Given the description of an element on the screen output the (x, y) to click on. 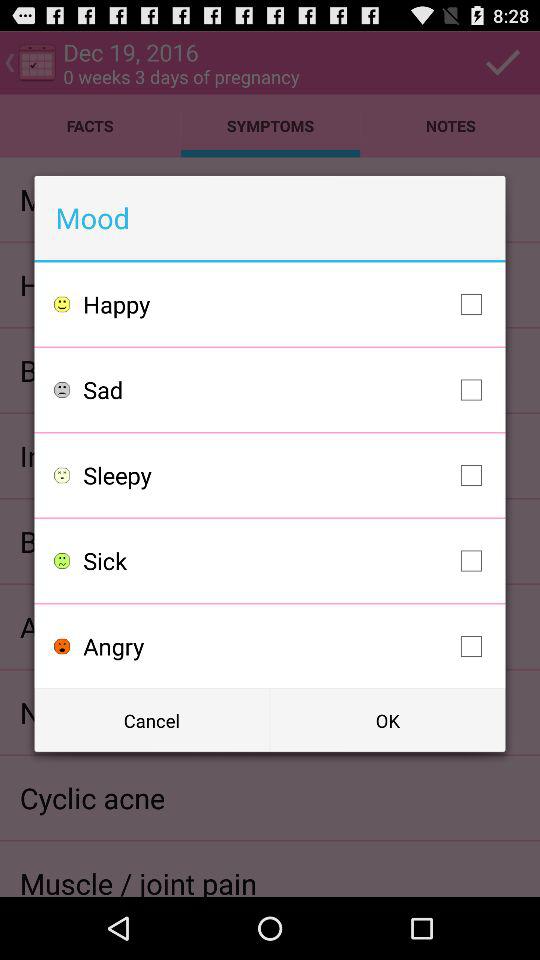
turn on the sad (287, 389)
